Given the description of an element on the screen output the (x, y) to click on. 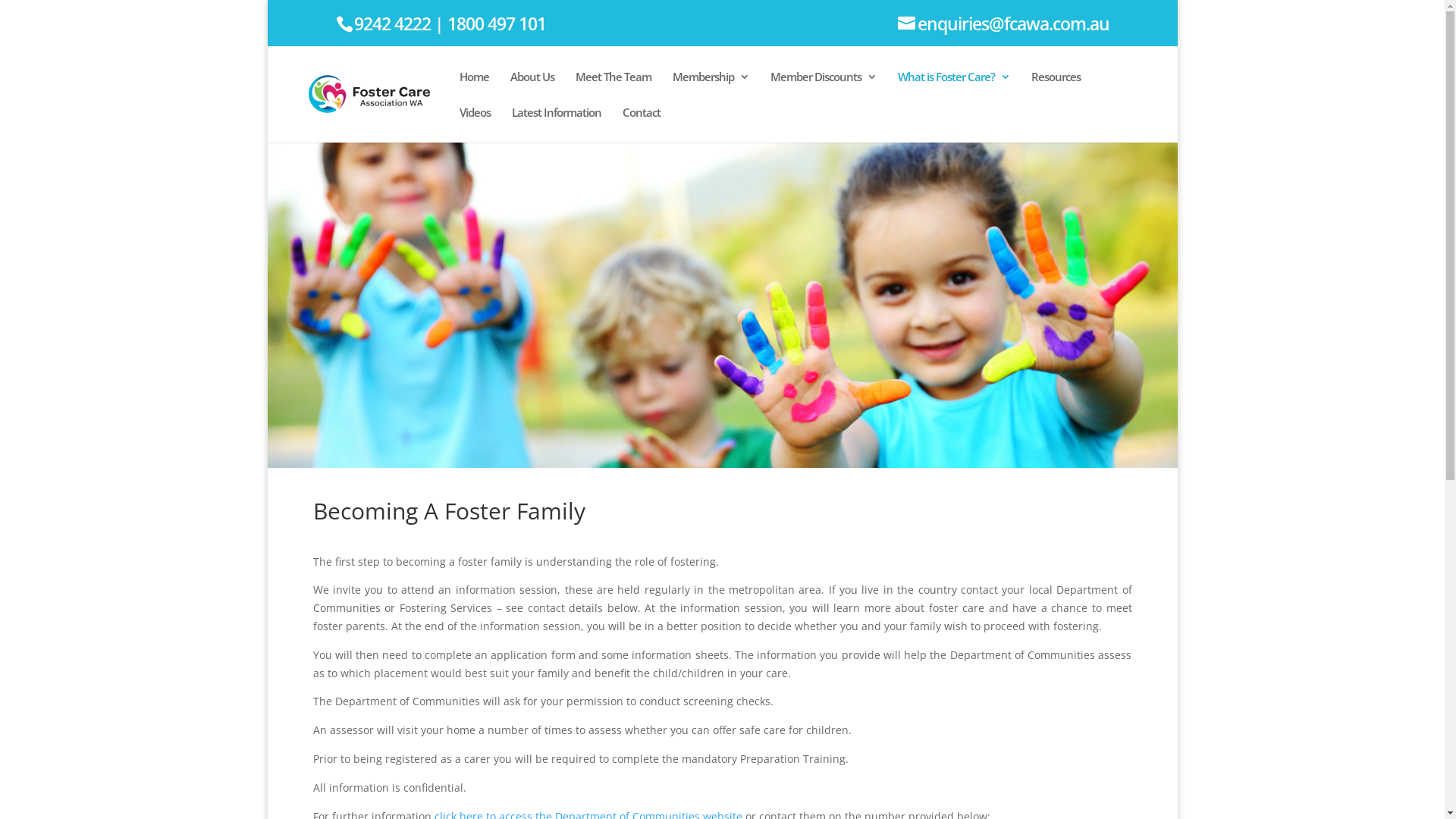
Resources Element type: text (1055, 88)
Meet The Team Element type: text (612, 88)
Contact Element type: text (640, 124)
Membership Element type: text (709, 88)
Videos Element type: text (474, 124)
Home Element type: text (474, 88)
What is Foster Care? Element type: text (953, 88)
Member Discounts Element type: text (823, 88)
About Us Element type: text (531, 88)
Latest Information Element type: text (555, 124)
